Given the description of an element on the screen output the (x, y) to click on. 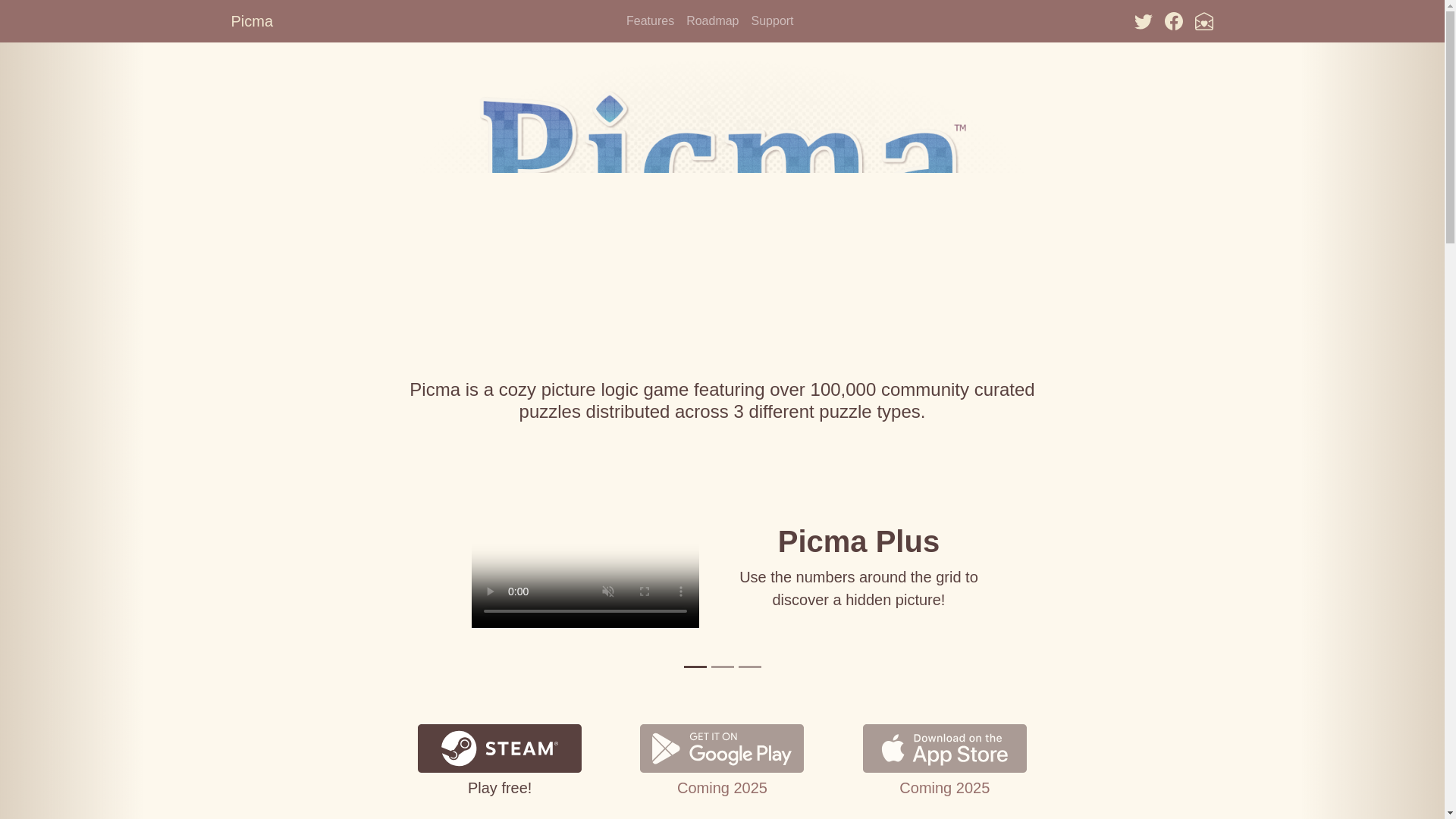
Features (649, 20)
Support (772, 20)
Picma (251, 20)
Steam Store (498, 747)
Roadmap (711, 20)
Newsletter (1203, 20)
